Given the description of an element on the screen output the (x, y) to click on. 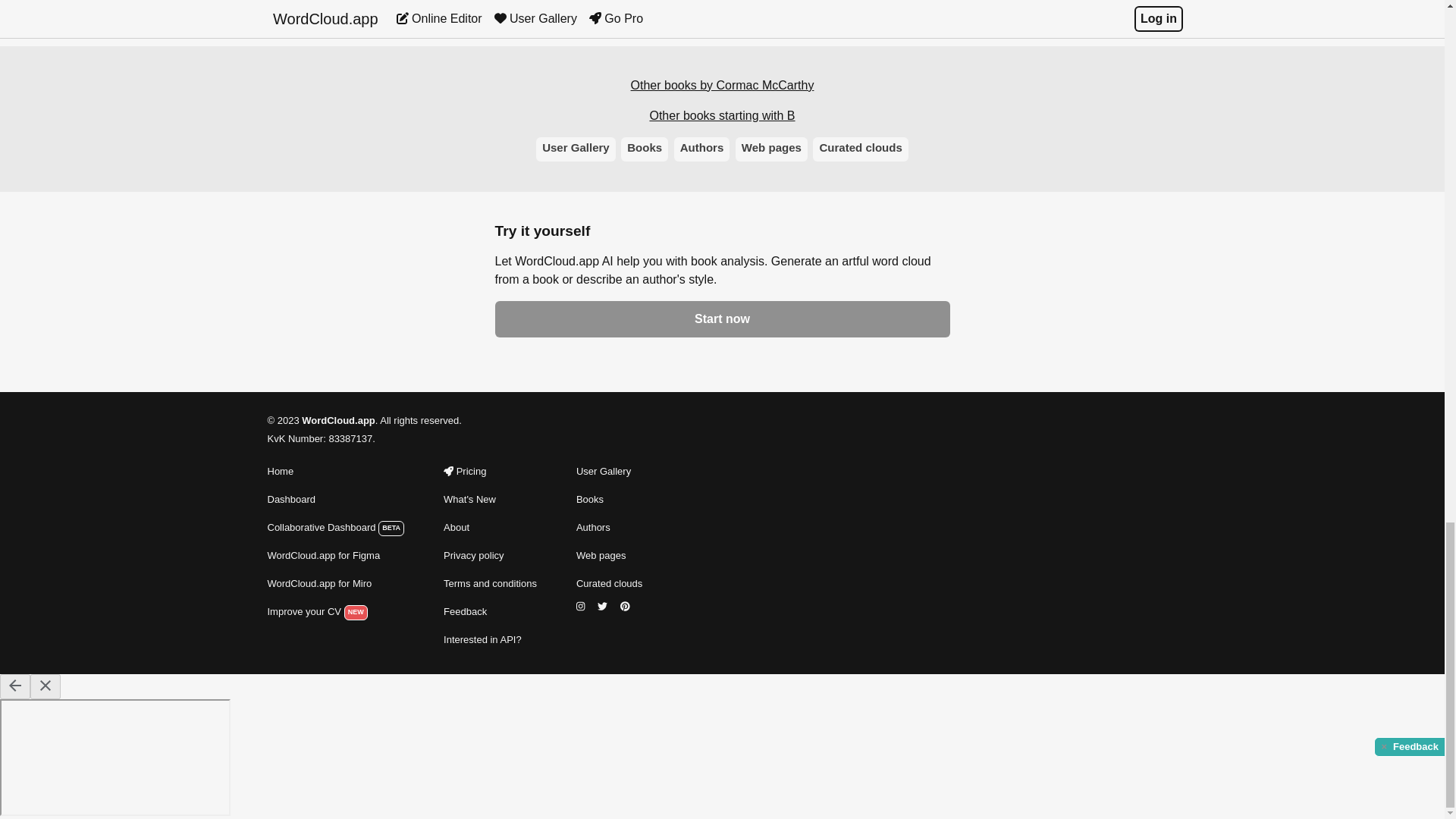
User Gallery (609, 471)
Release notes (490, 499)
WordClouds for hundreds of books (609, 527)
WordCloud.app dashboard (335, 499)
Web pages (609, 556)
What's New (490, 499)
Web pages (771, 149)
Interested in API? (490, 639)
About WordCloud (490, 527)
Terms and conditions (490, 583)
Authors (609, 527)
Privacy policy (490, 556)
Curated clouds (609, 583)
Authors (702, 149)
Feedback (490, 611)
